Given the description of an element on the screen output the (x, y) to click on. 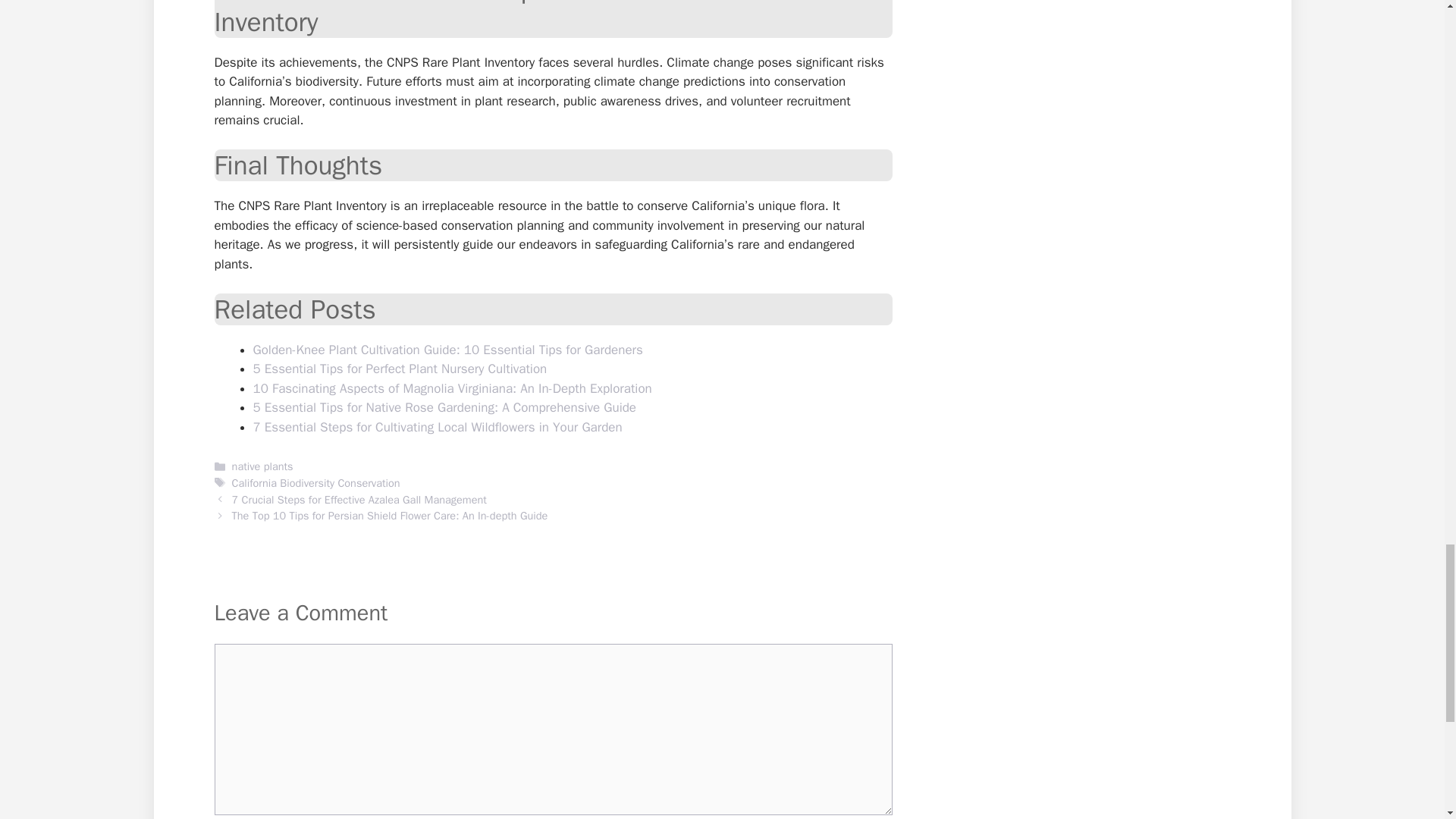
California Biodiversity Conservation (315, 482)
native plants (262, 466)
7 Crucial Steps for Effective Azalea Gall Management (358, 499)
5 Essential Tips for Perfect Plant Nursery Cultivation (400, 368)
